Given the description of an element on the screen output the (x, y) to click on. 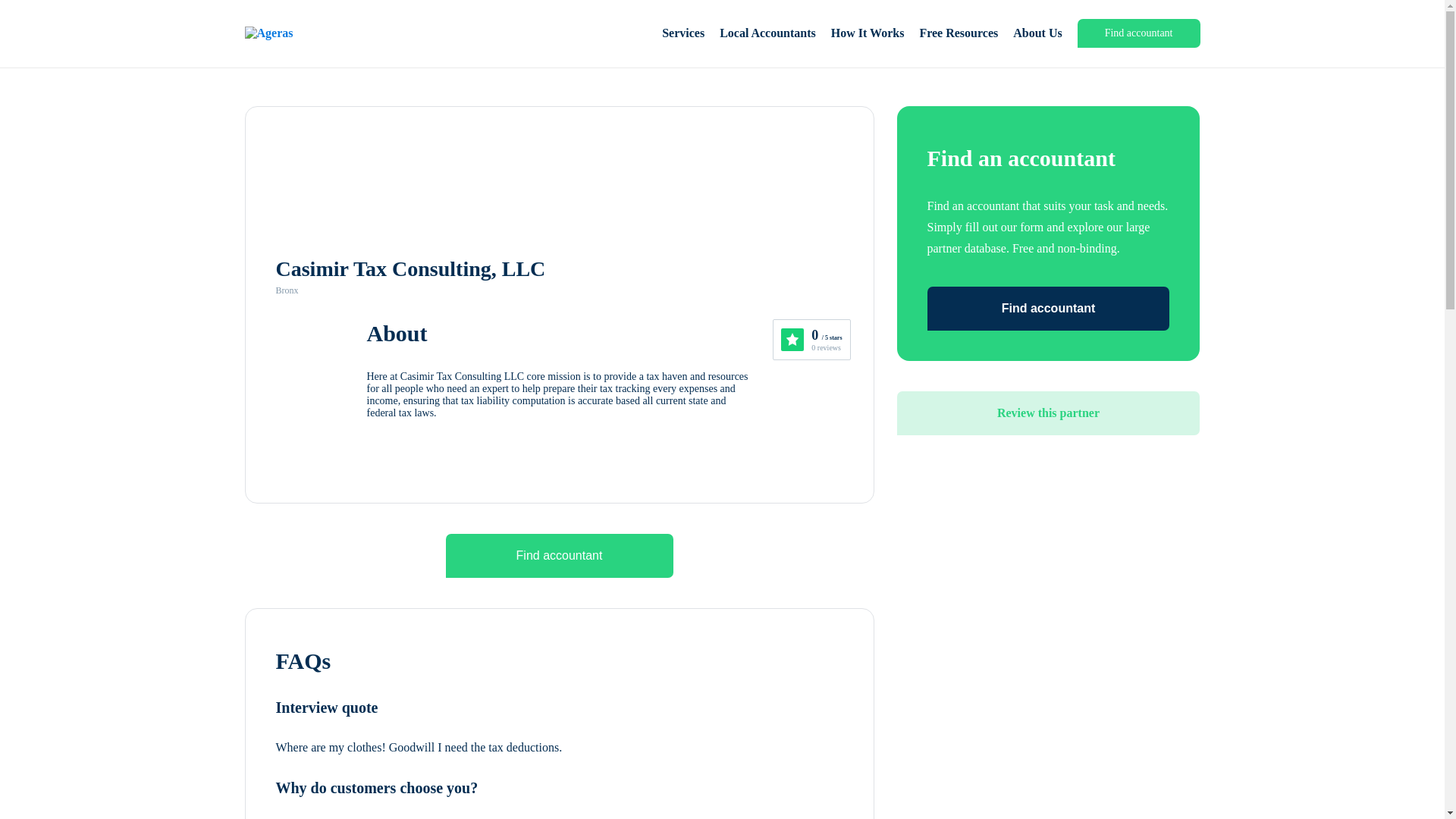
About Us (1037, 33)
How It Works (867, 33)
Local Accountants (767, 33)
Free Resources (957, 33)
Services (683, 33)
